Given the description of an element on the screen output the (x, y) to click on. 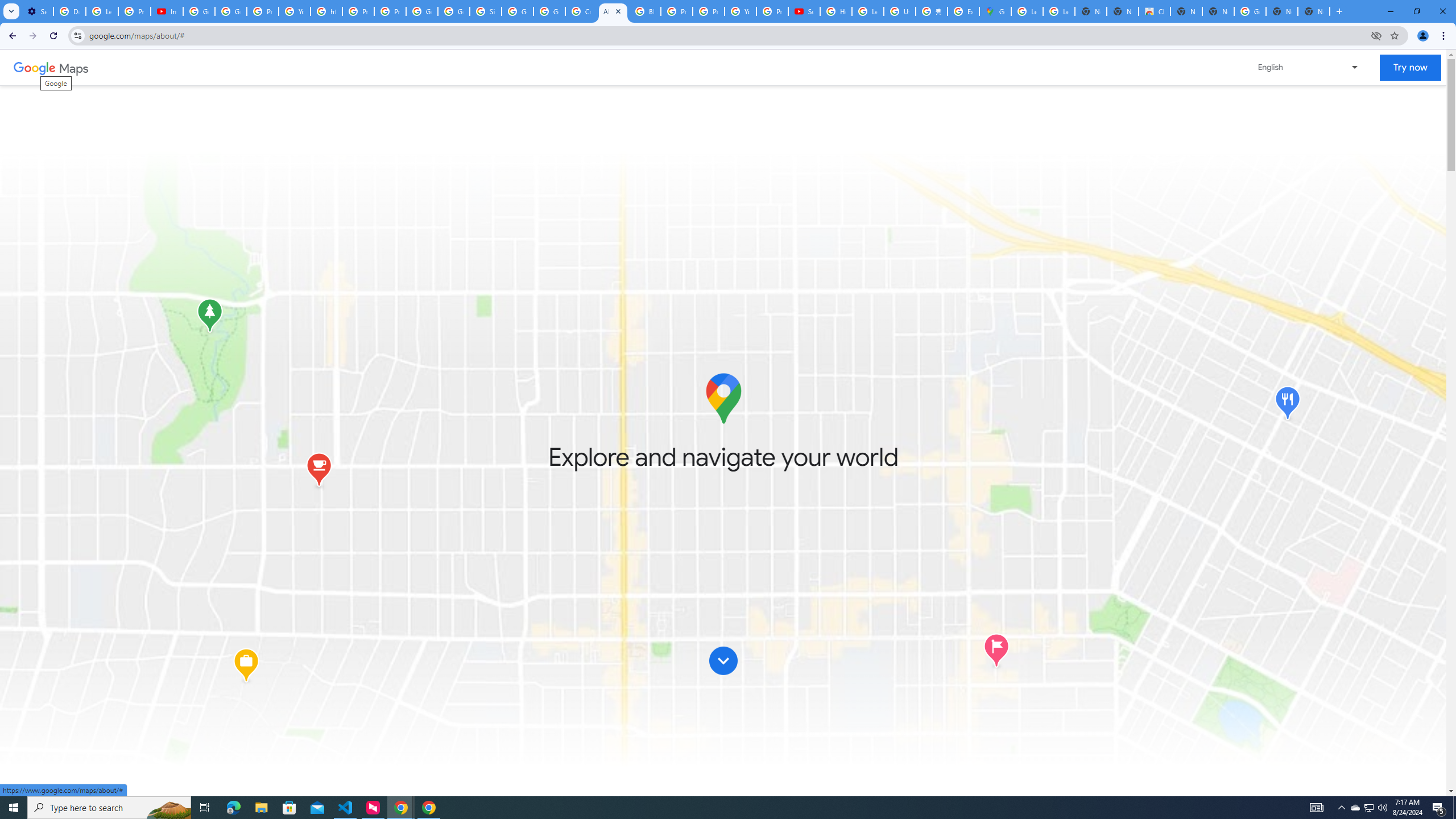
Settings - Customize profile (37, 11)
New Tab (1313, 11)
How Chrome protects your passwords - Google Chrome Help (836, 11)
Privacy Help Center - Policies Help (708, 11)
Blogger Policies and Guidelines - Transparency Center (644, 11)
